Given the description of an element on the screen output the (x, y) to click on. 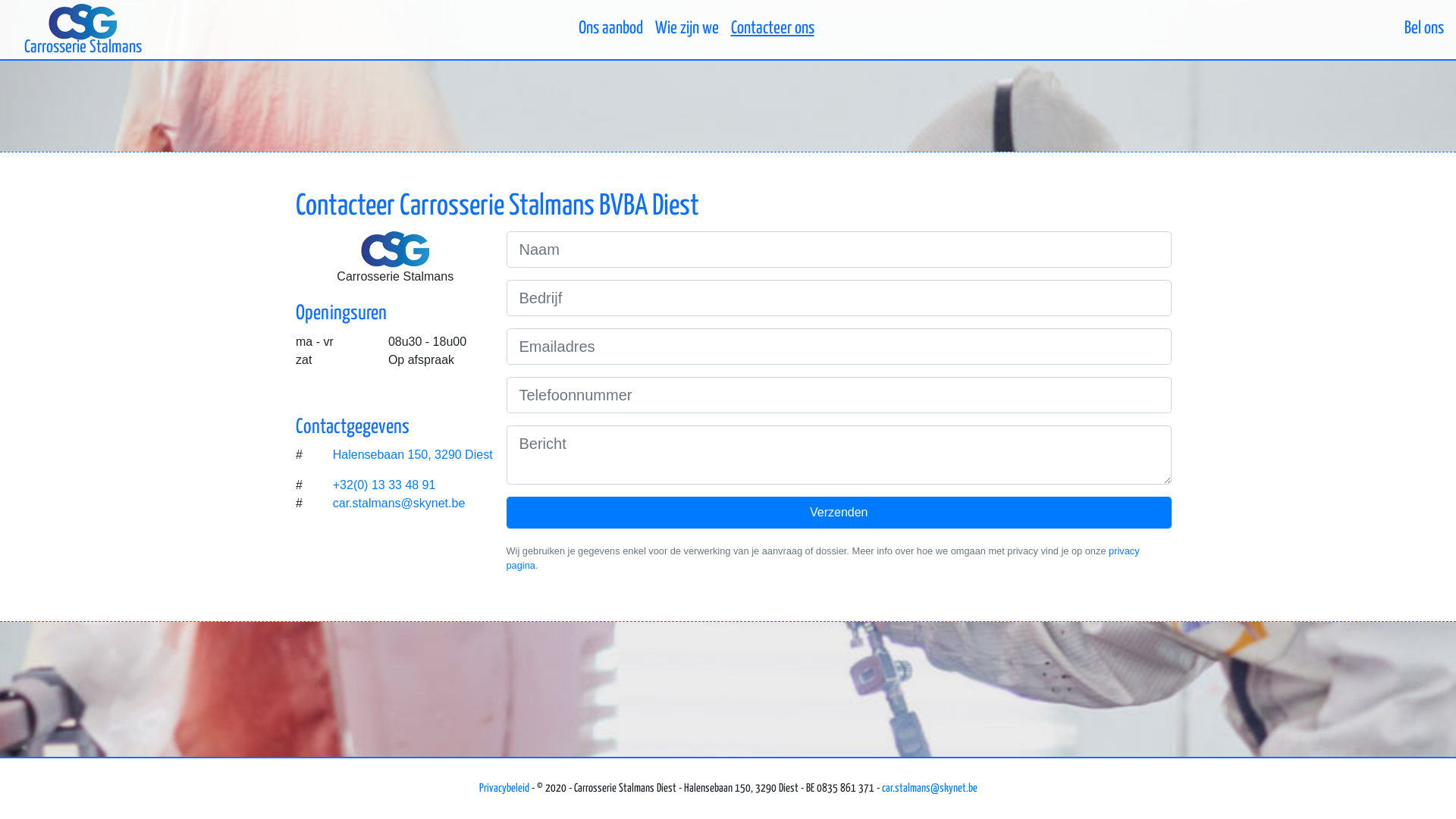
Logo Carrosserie Stalmans BVBA Diest Element type: hover (82, 21)
Verzenden Element type: text (839, 512)
privacy pagina Element type: text (822, 558)
Contacteer ons Element type: text (772, 28)
Privacybeleid Element type: text (504, 787)
Halensebaan 150, 3290 Diest Element type: text (413, 454)
Wie zijn we Element type: text (686, 28)
Logo Carrosserie Stalmans BVBA Diest Element type: hover (394, 249)
car.stalmans@skynet.be Element type: text (928, 787)
+32(0) 13 33 48 91 Element type: text (384, 484)
car.stalmans@skynet.be Element type: text (398, 502)
Carrosserie Stalmans Element type: text (82, 29)
Ons aanbod Element type: text (609, 28)
